Given the description of an element on the screen output the (x, y) to click on. 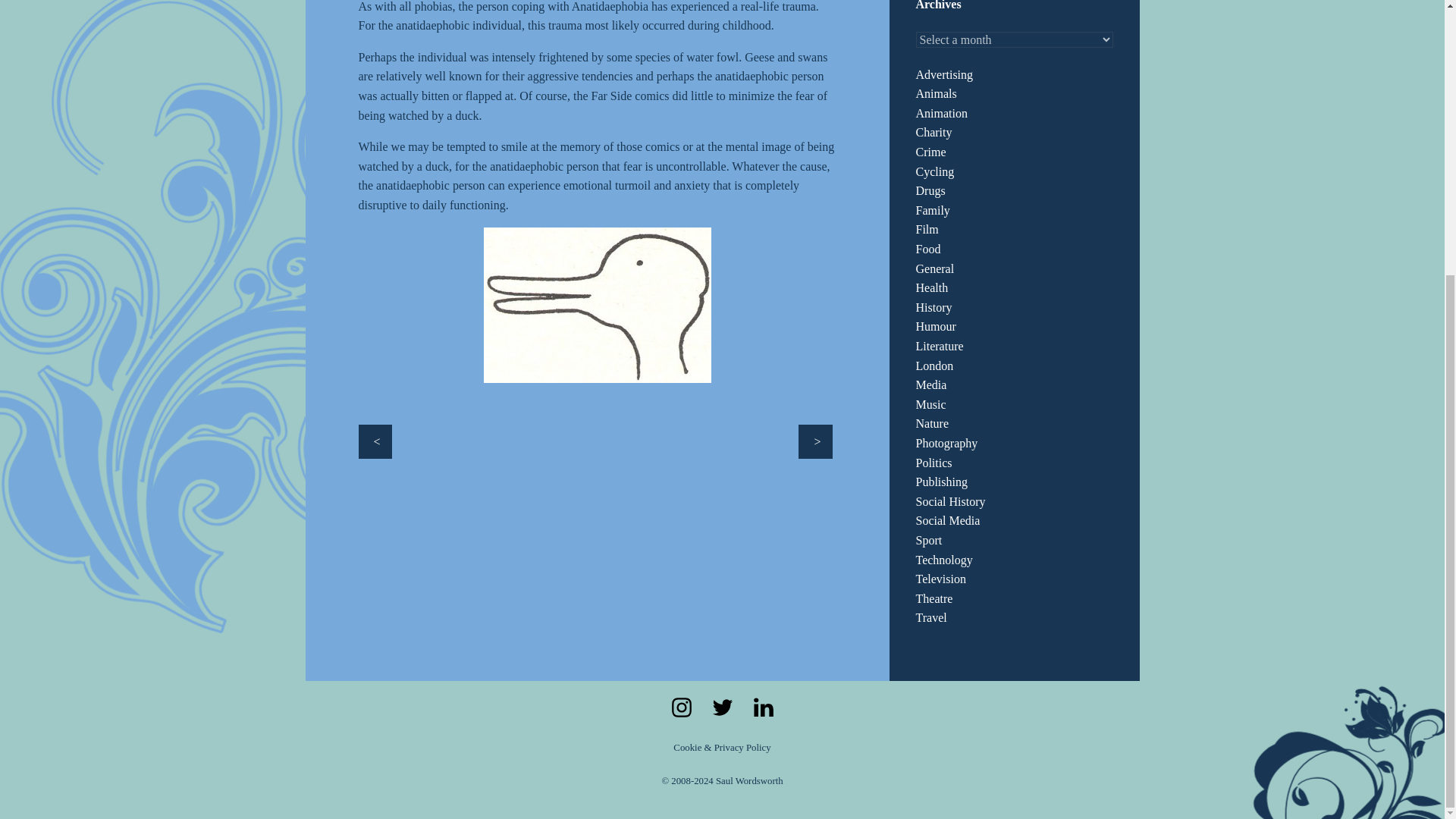
Film (927, 228)
Humour (935, 326)
Politics (933, 462)
Publishing (941, 481)
History (933, 307)
Music (930, 404)
Advertising (944, 74)
Drugs (929, 190)
General (935, 268)
Cycling (935, 171)
